Given the description of an element on the screen output the (x, y) to click on. 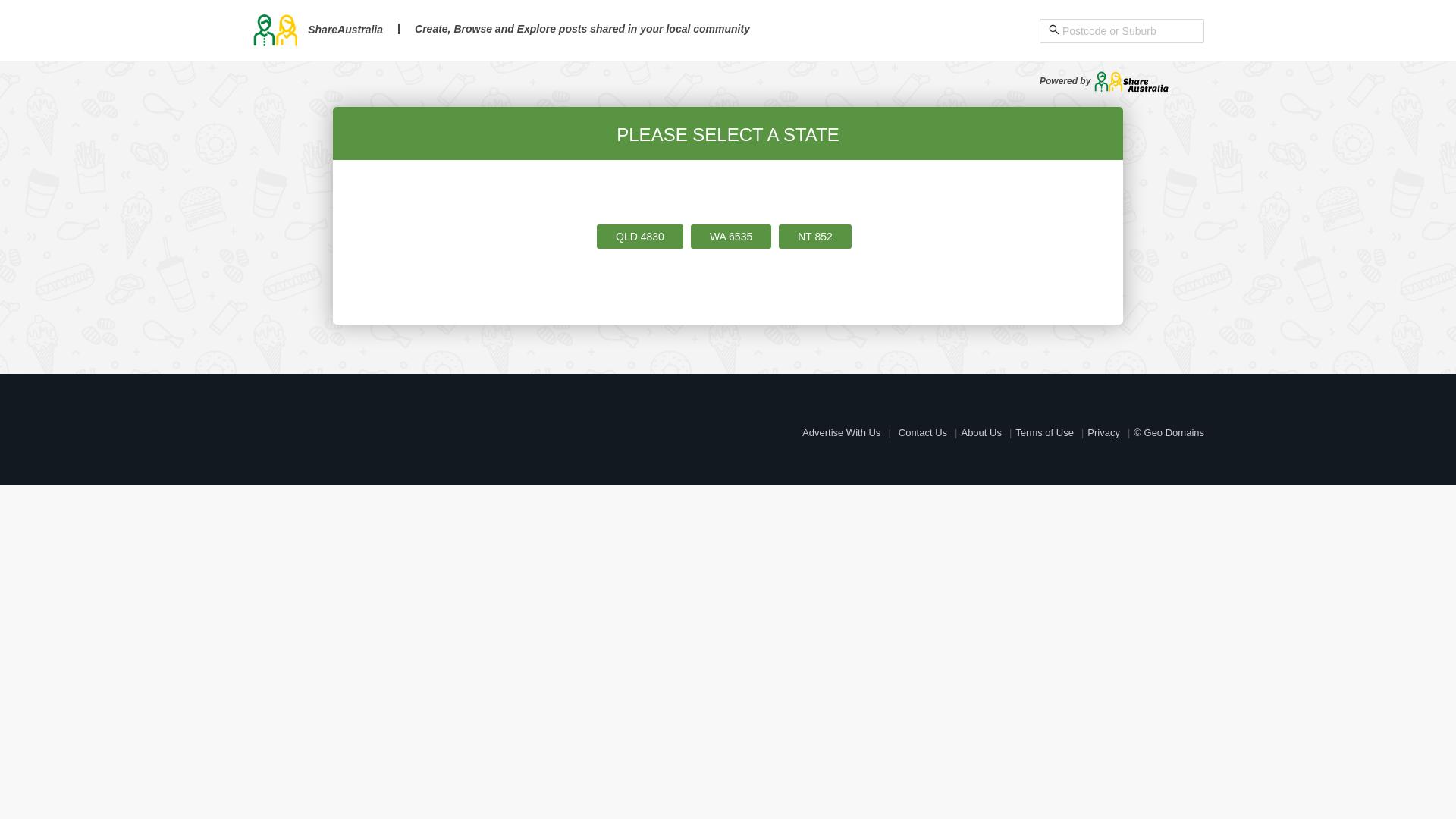
Terms of Use Element type: text (1044, 432)
Powered by Element type: text (1104, 80)
NT 852 Element type: text (814, 236)
Advertise With Us Element type: text (841, 432)
ShareAustralia Element type: text (316, 29)
Contact Us Element type: text (922, 432)
WA 6535 Element type: text (730, 236)
About Us Element type: text (980, 432)
Privacy Element type: text (1103, 432)
QLD 4830 Element type: text (639, 236)
